Given the description of an element on the screen output the (x, y) to click on. 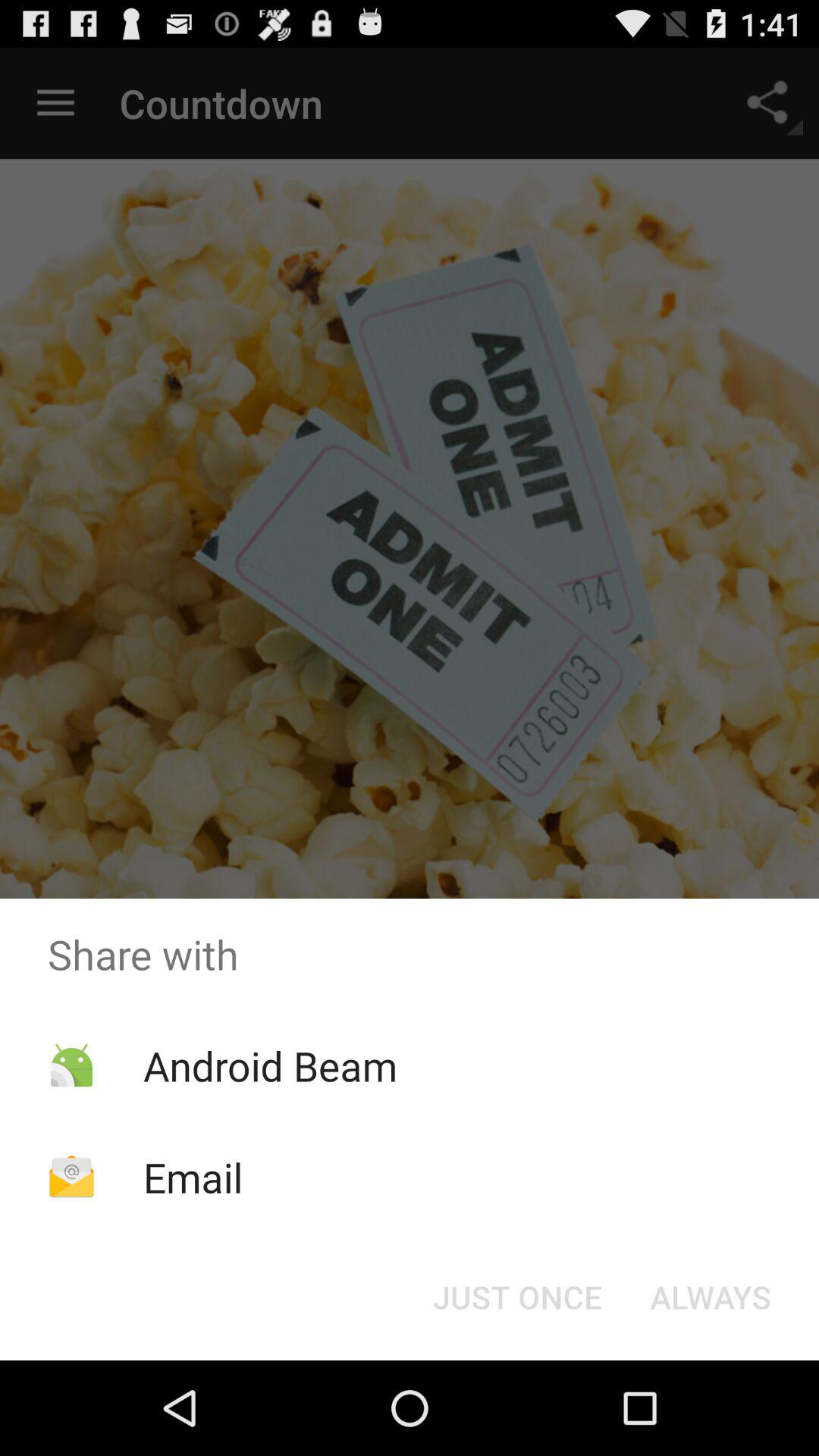
turn on item next to the always (517, 1296)
